Given the description of an element on the screen output the (x, y) to click on. 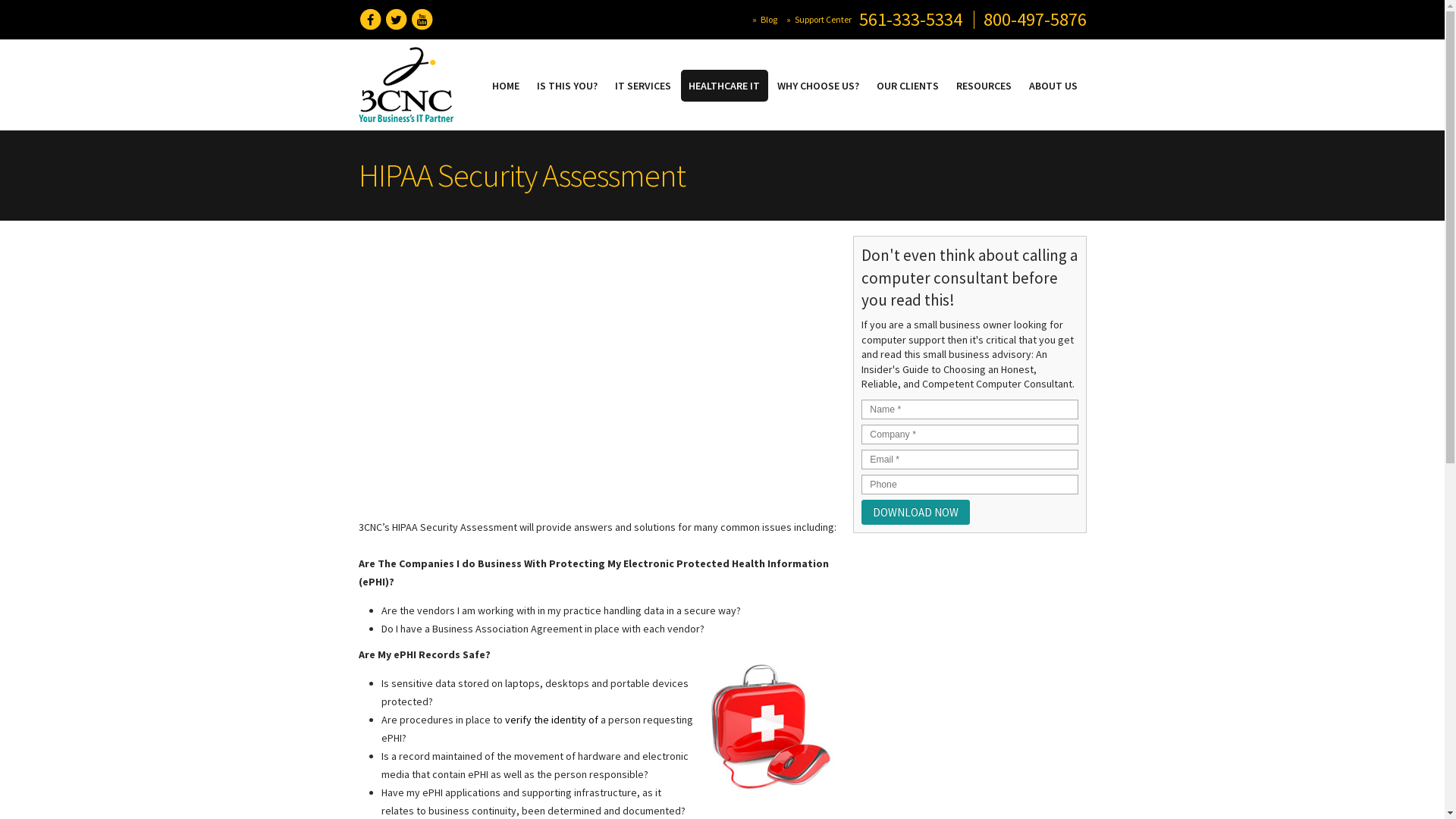
WHY CHOOSE US? Element type: text (817, 85)
Blog Element type: text (767, 19)
IT SERVICES Element type: text (642, 85)
HOME Element type: text (505, 85)
IS THIS YOU? Element type: text (567, 85)
Support Center Element type: text (822, 19)
Download Now Element type: text (915, 511)
RESOURCES Element type: text (983, 85)
OUR CLIENTS Element type: text (908, 85)
ABOUT US Element type: text (1052, 85)
HEALTHCARE IT Element type: text (724, 85)
